Given the description of an element on the screen output the (x, y) to click on. 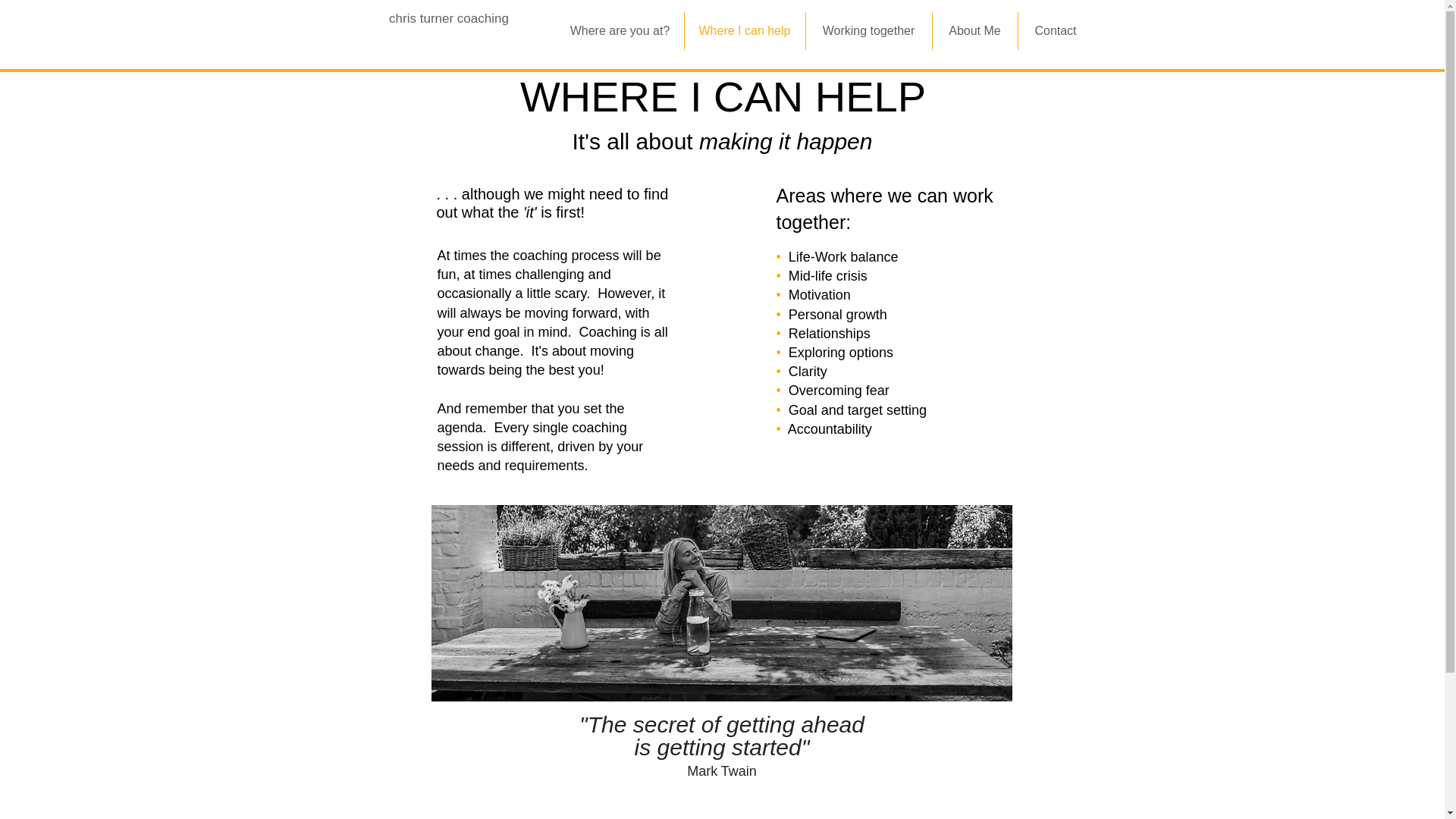
chris turner coaching (448, 18)
Where I can help (744, 30)
Working together (868, 30)
About Me (975, 30)
Contact (1055, 30)
Where are you at? (620, 30)
